Given the description of an element on the screen output the (x, y) to click on. 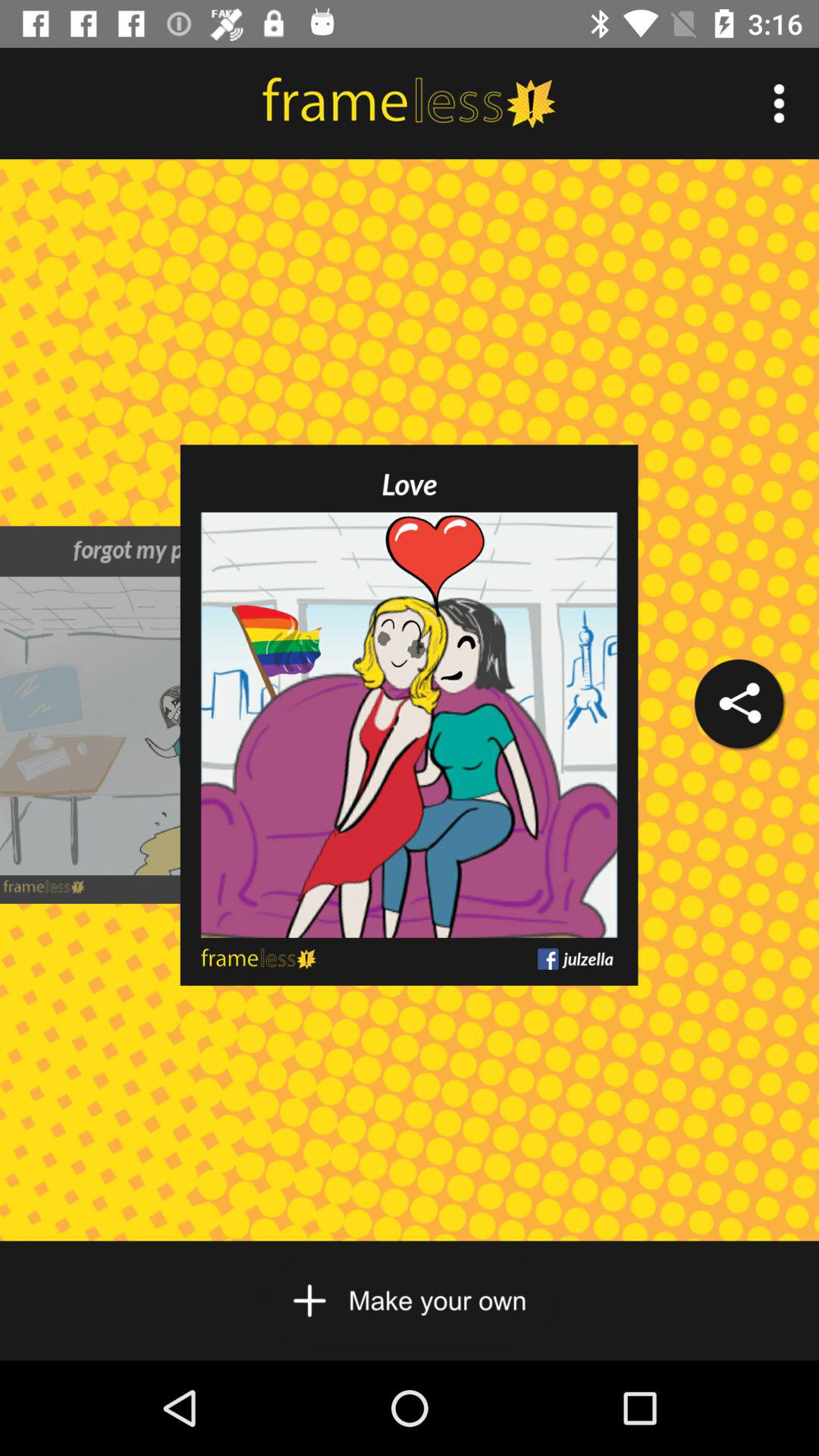
toggle for more options (779, 103)
